Given the description of an element on the screen output the (x, y) to click on. 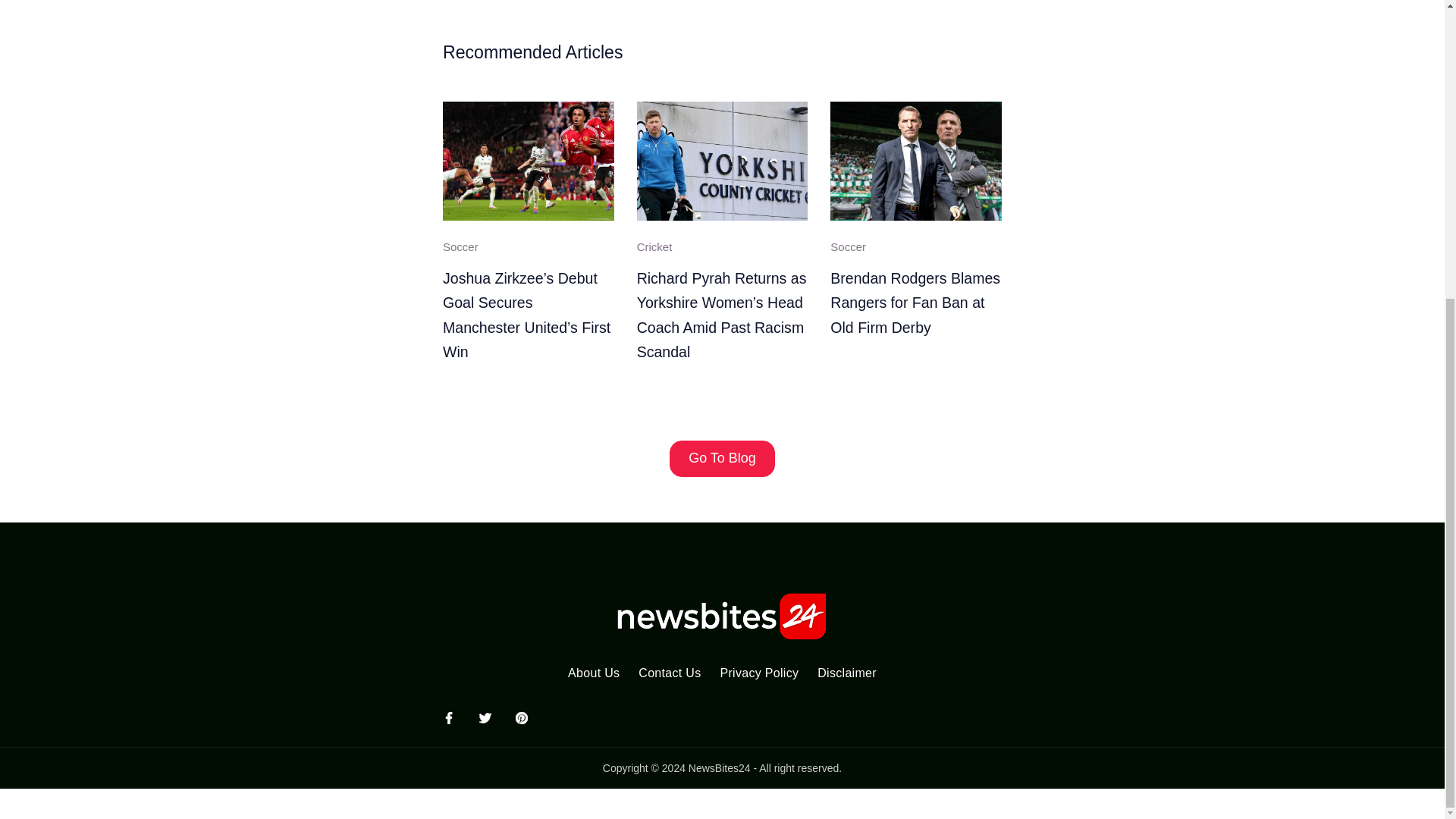
Disclaimer (847, 673)
Privacy Policy (759, 673)
Contact Us (669, 673)
Soccer (460, 246)
Go To Blog (721, 458)
Brendan Rodgers Blames Rangers for Fan Ban at Old Firm Derby (914, 302)
Cricket (654, 246)
Soccer (847, 246)
About Us (593, 673)
